Given the description of an element on the screen output the (x, y) to click on. 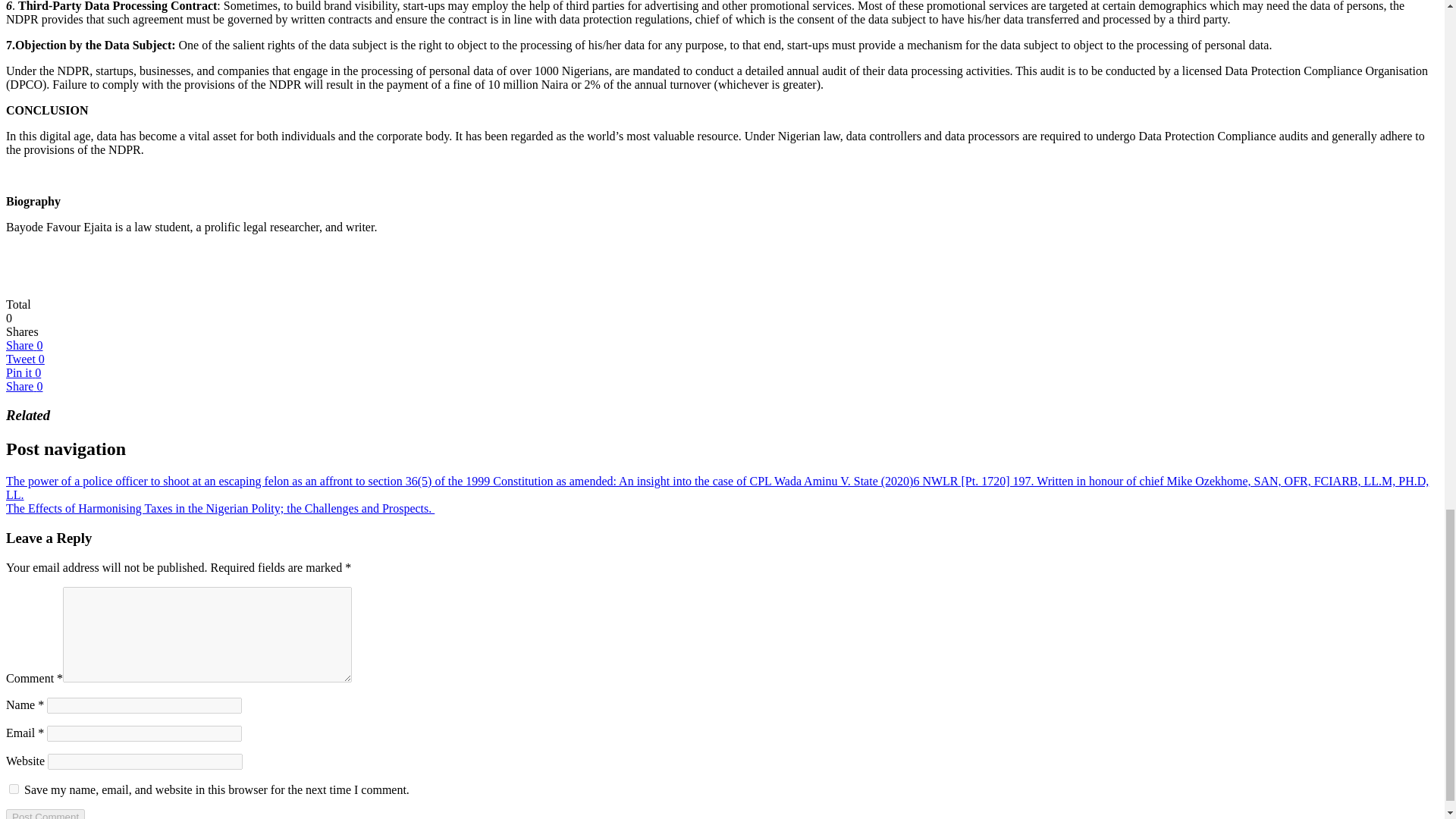
Tweet 0 (25, 358)
yes (13, 788)
Share 0 (23, 386)
Pin it 0 (22, 372)
Share 0 (23, 345)
